Given the description of an element on the screen output the (x, y) to click on. 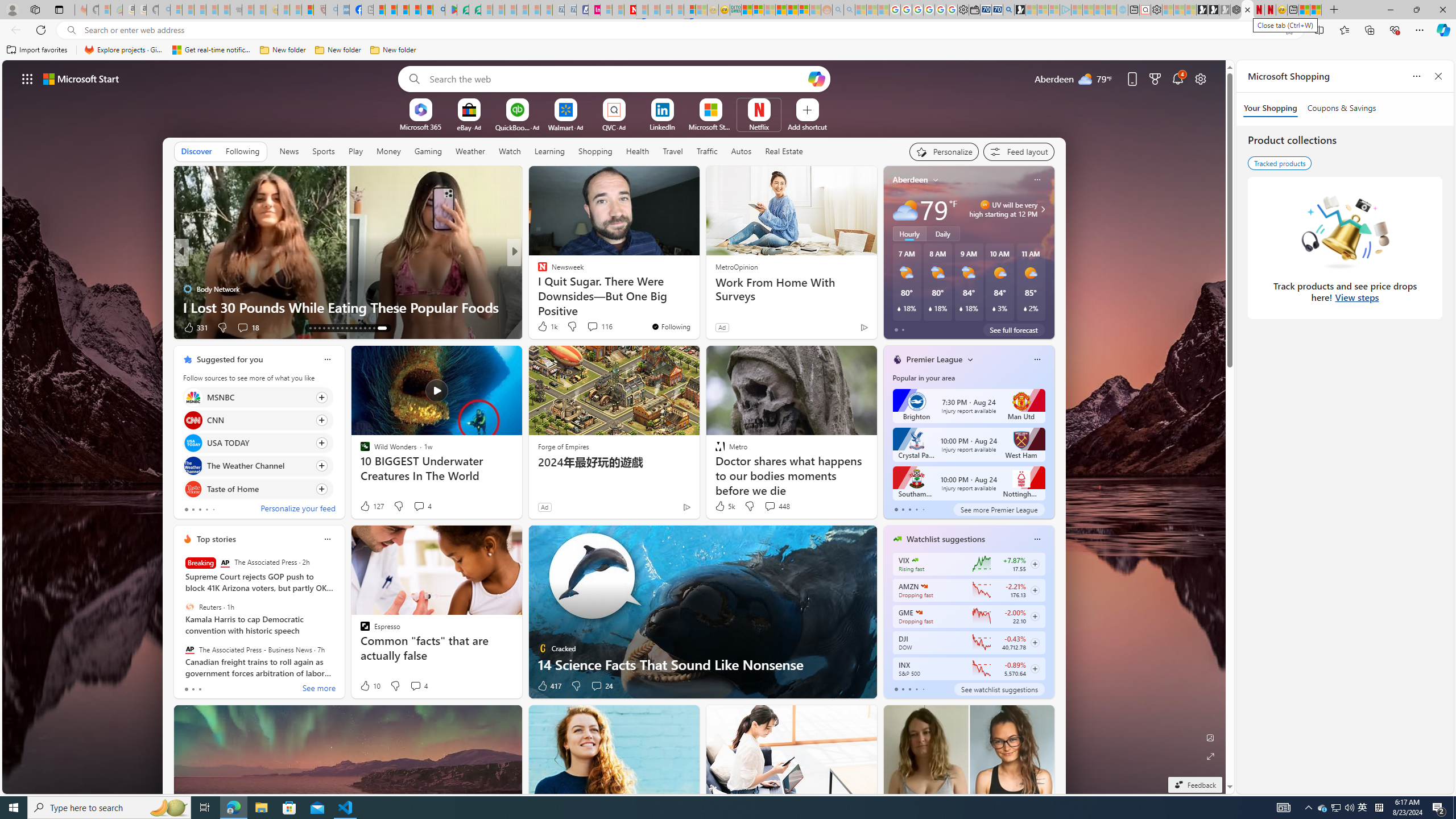
The Weather Channel (192, 466)
tab-1 (903, 689)
AutomationID: tab-21 (346, 328)
